Given the description of an element on the screen output the (x, y) to click on. 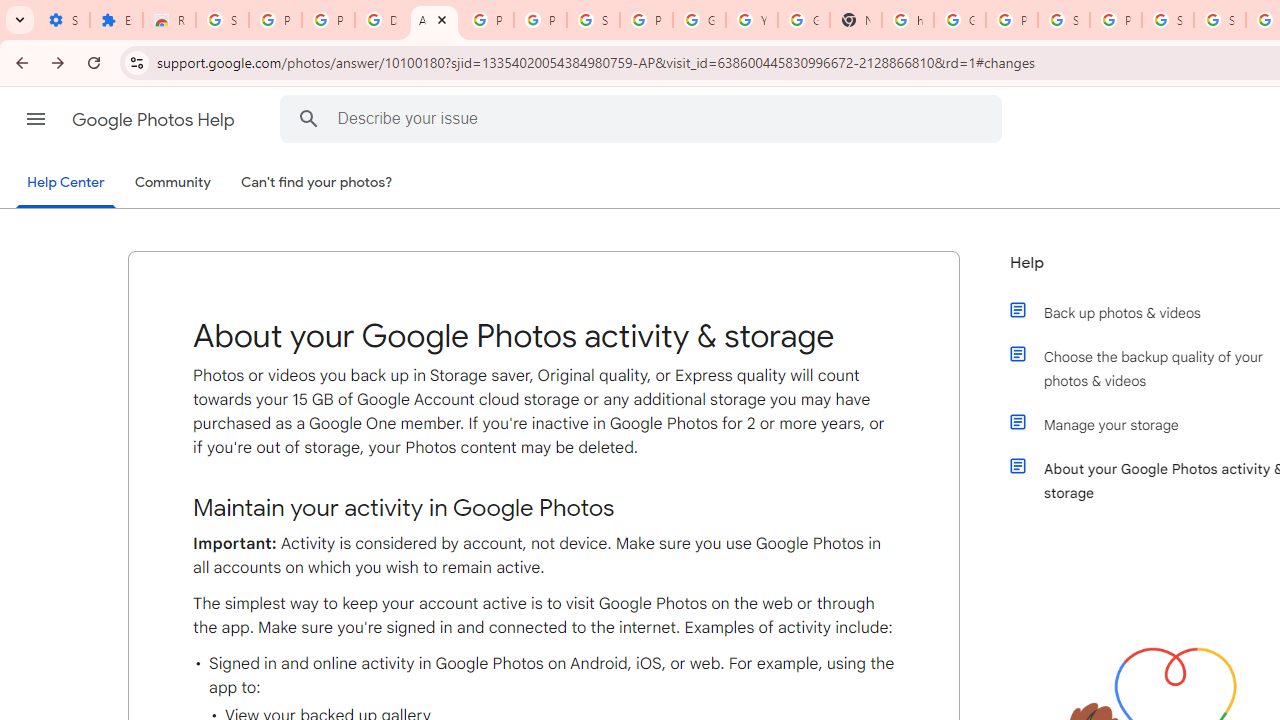
Settings - On startup (63, 20)
Community (171, 183)
https://scholar.google.com/ (907, 20)
Delete photos & videos - Computer - Google Photos Help (381, 20)
